Given the description of an element on the screen output the (x, y) to click on. 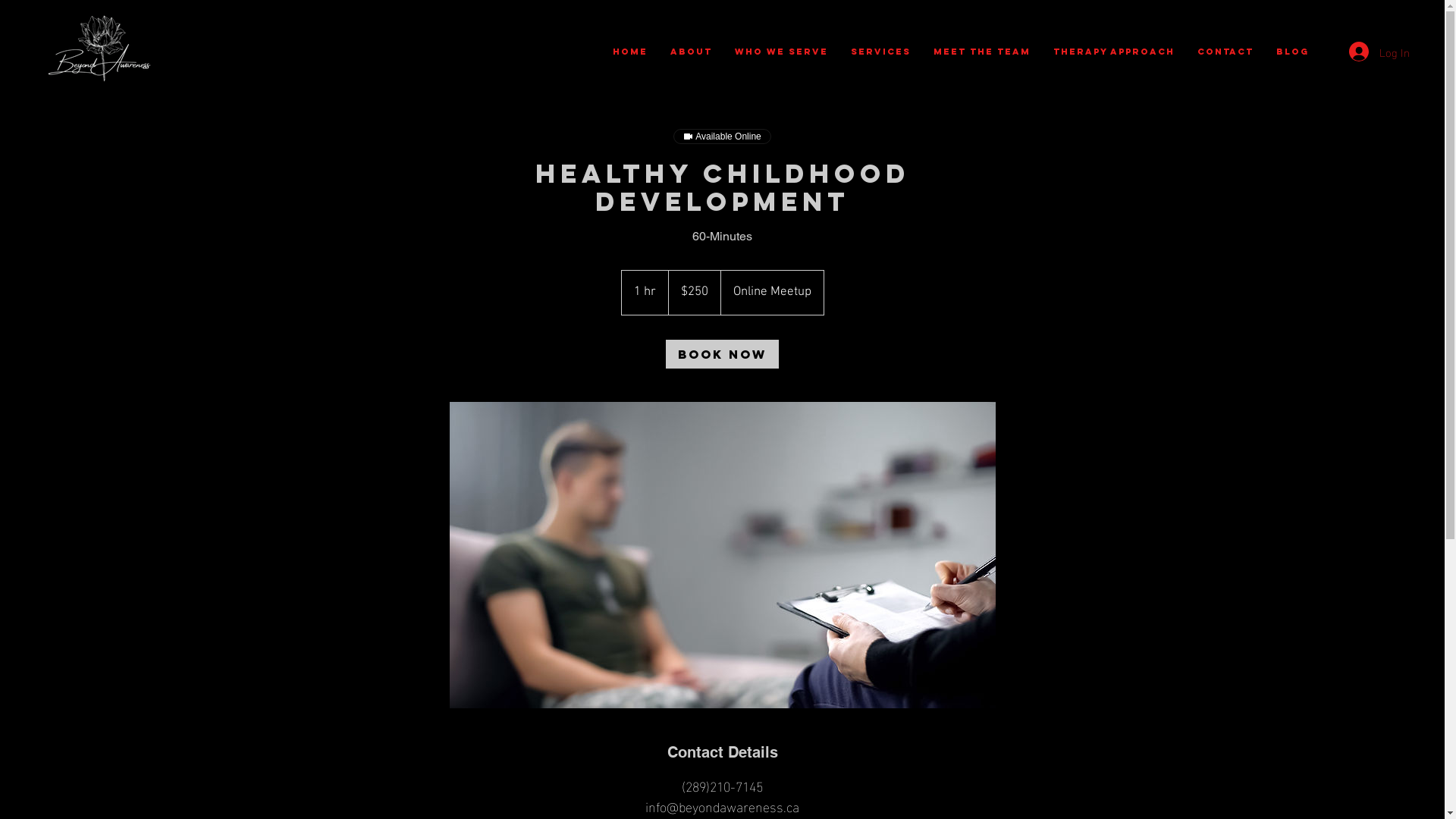
Log In Element type: text (1376, 51)
CONTACT Element type: text (1225, 51)
Book Now Element type: text (721, 353)
SERVICES Element type: text (879, 51)
WHO WE SERVE Element type: text (781, 51)
MEET THE TEAM Element type: text (981, 51)
Blog Element type: text (1292, 51)
About Element type: text (690, 51)
THERAPY APPROACH Element type: text (1113, 51)
HOME Element type: text (629, 51)
